Given the description of an element on the screen output the (x, y) to click on. 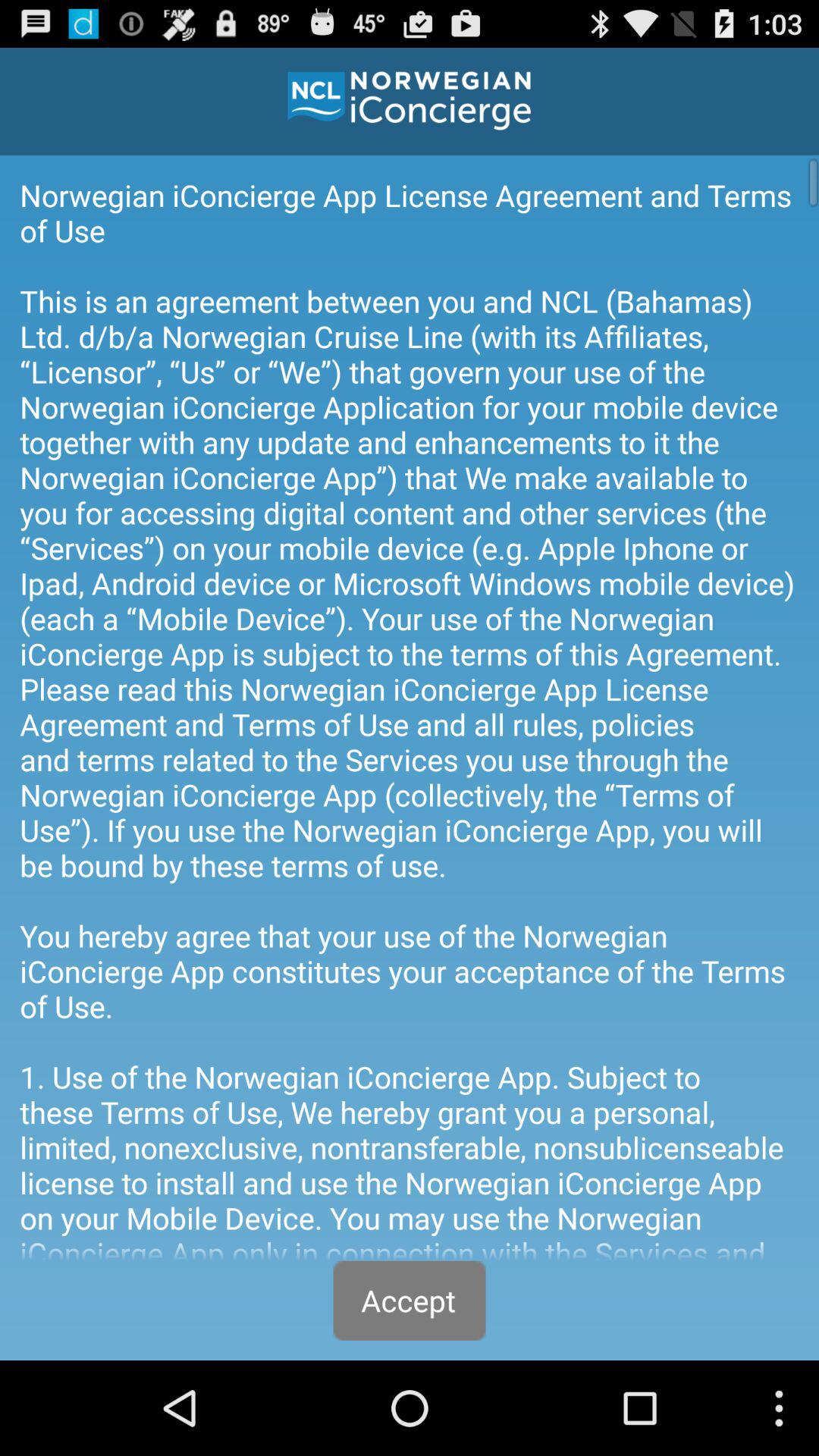
jump to accept icon (409, 1300)
